Given the description of an element on the screen output the (x, y) to click on. 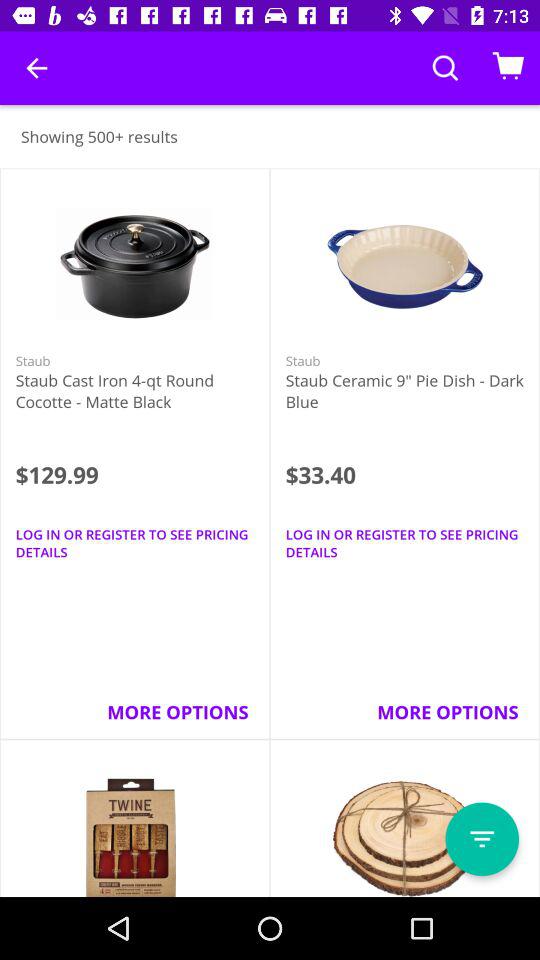
filter results (482, 839)
